Given the description of an element on the screen output the (x, y) to click on. 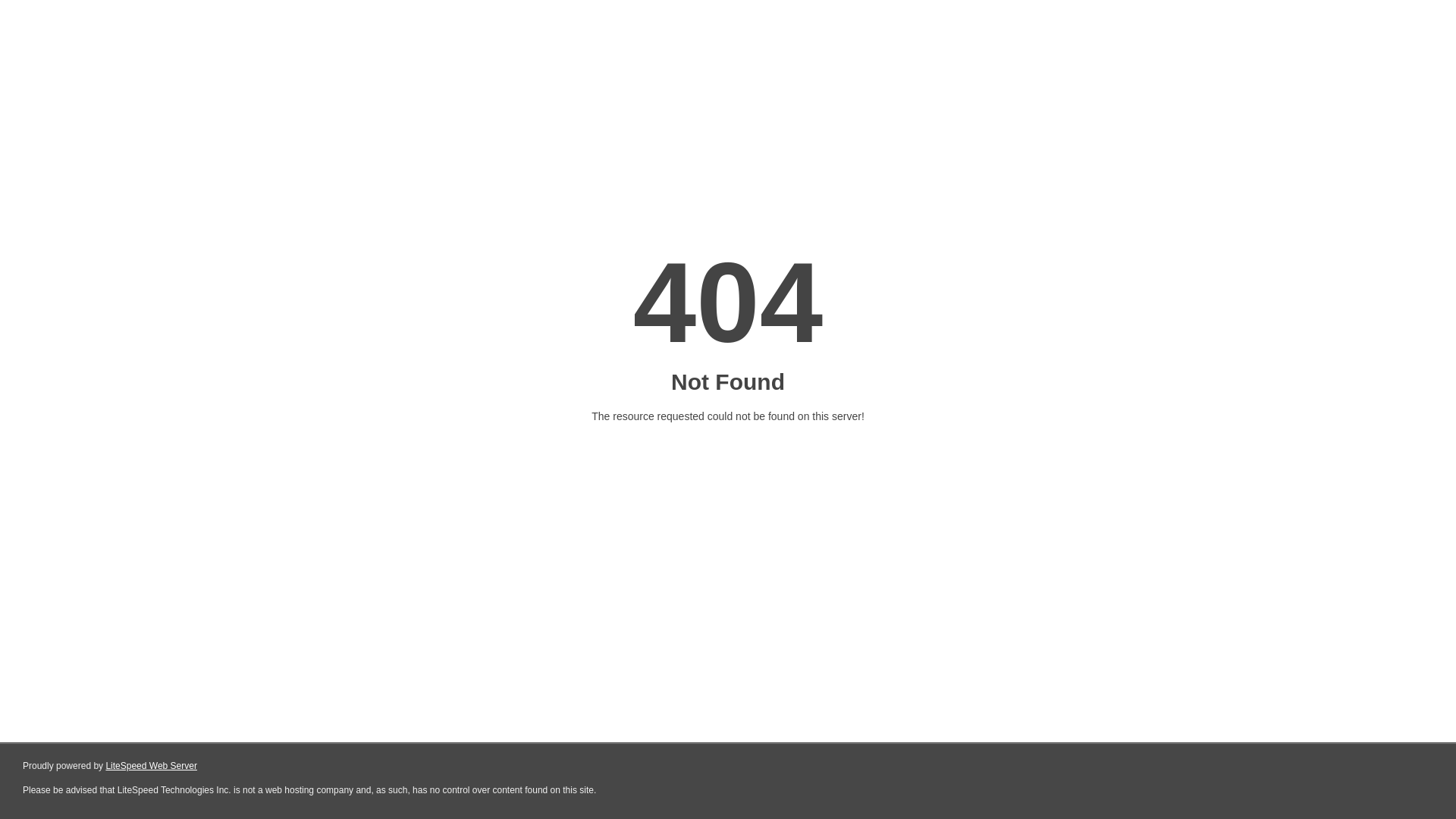
LiteSpeed Web Server Element type: text (151, 765)
